Given the description of an element on the screen output the (x, y) to click on. 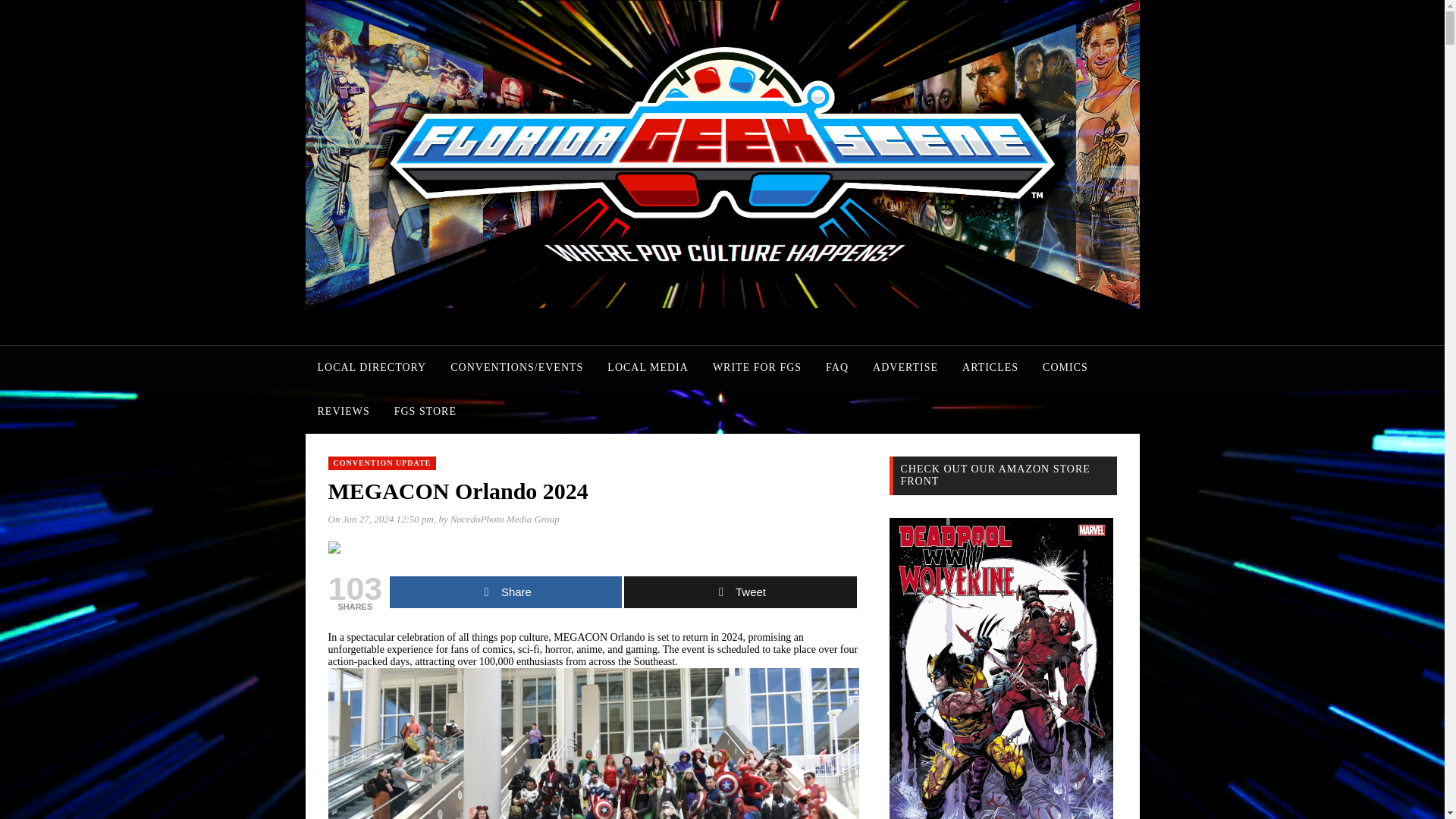
REVIEWS (342, 411)
ARTICLES (990, 367)
LOCAL MEDIA (647, 367)
FGS STORE (424, 411)
WRITE FOR FGS (756, 367)
ADVERTISE (905, 367)
COMICS (1065, 367)
FAQ (836, 367)
LOCAL DIRECTORY (371, 367)
